Given the description of an element on the screen output the (x, y) to click on. 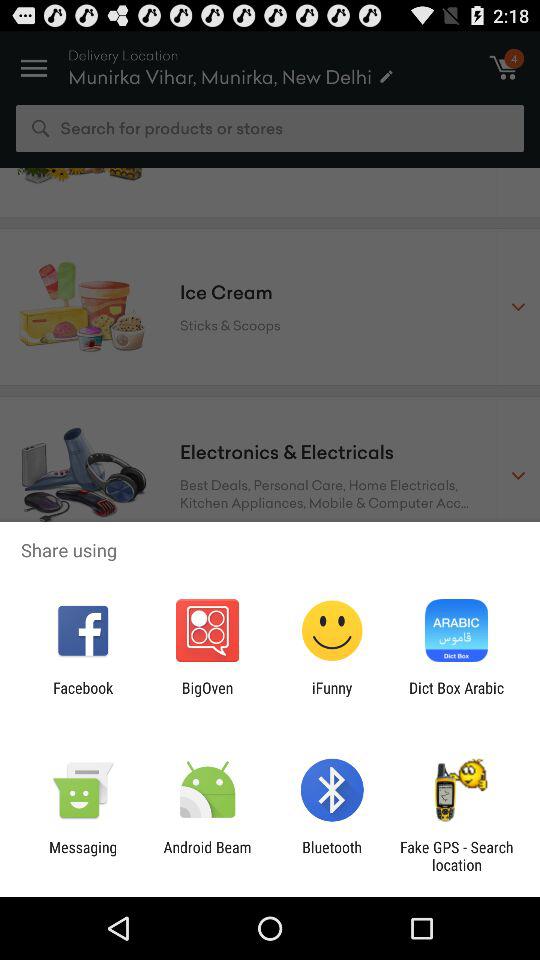
tap the item to the right of messaging icon (207, 856)
